Given the description of an element on the screen output the (x, y) to click on. 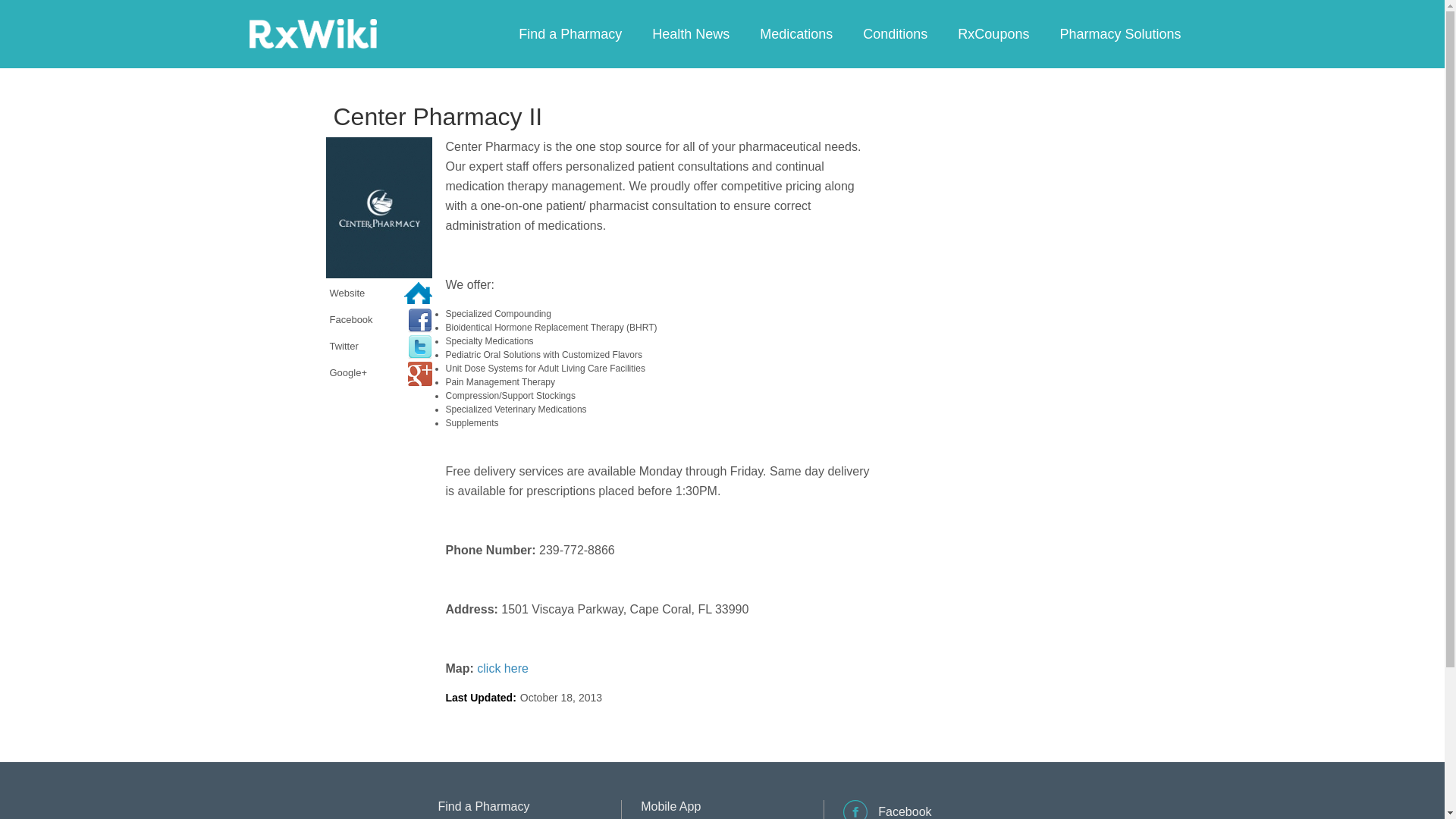
Medications (795, 33)
Pharmacy Solutions (1119, 33)
Find a Pharmacy (483, 806)
Facebook (887, 816)
Conditions (894, 33)
click here (502, 667)
RxWiki (312, 32)
RxCoupons (992, 33)
Mobile App (670, 806)
Find a Pharmacy (570, 33)
Health News (690, 33)
